Given the description of an element on the screen output the (x, y) to click on. 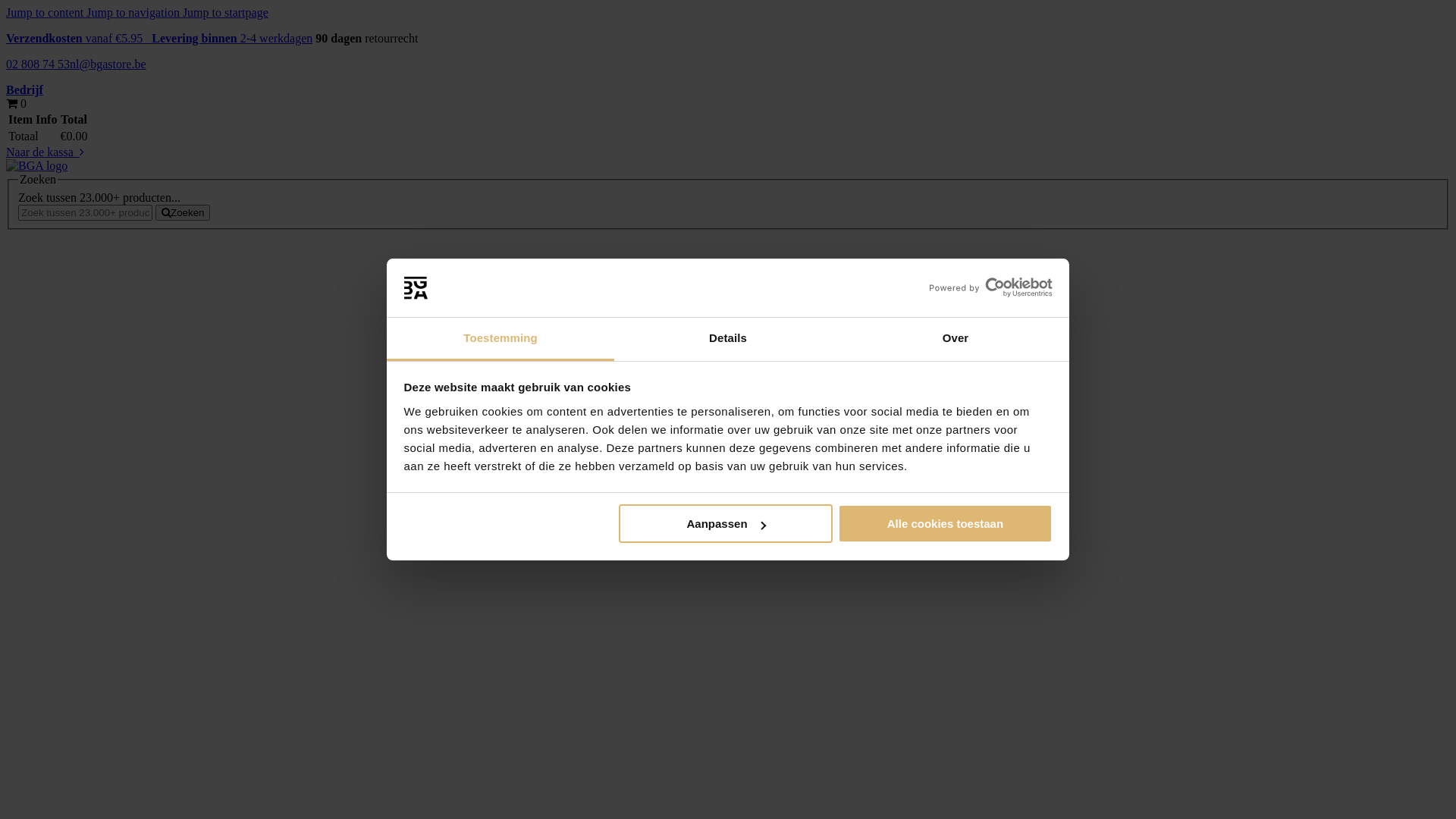
Jump to content Element type: text (46, 12)
Bedrijf Element type: text (24, 89)
Naar de kassa  Element type: text (45, 151)
Zoeken Element type: text (182, 212)
Jump to startpage Element type: text (225, 12)
Over Element type: text (955, 338)
Toestemming Element type: text (500, 338)
Jump to navigation Element type: text (134, 12)
Alle cookies toestaan Element type: text (944, 523)
nl@bgastore.be Element type: text (107, 63)
Zoek tussen 23.000+ producten... Element type: hover (85, 212)
02 808 74 53 Element type: text (37, 63)
Aanpassen Element type: text (725, 523)
Details Element type: text (727, 338)
